Given the description of an element on the screen output the (x, y) to click on. 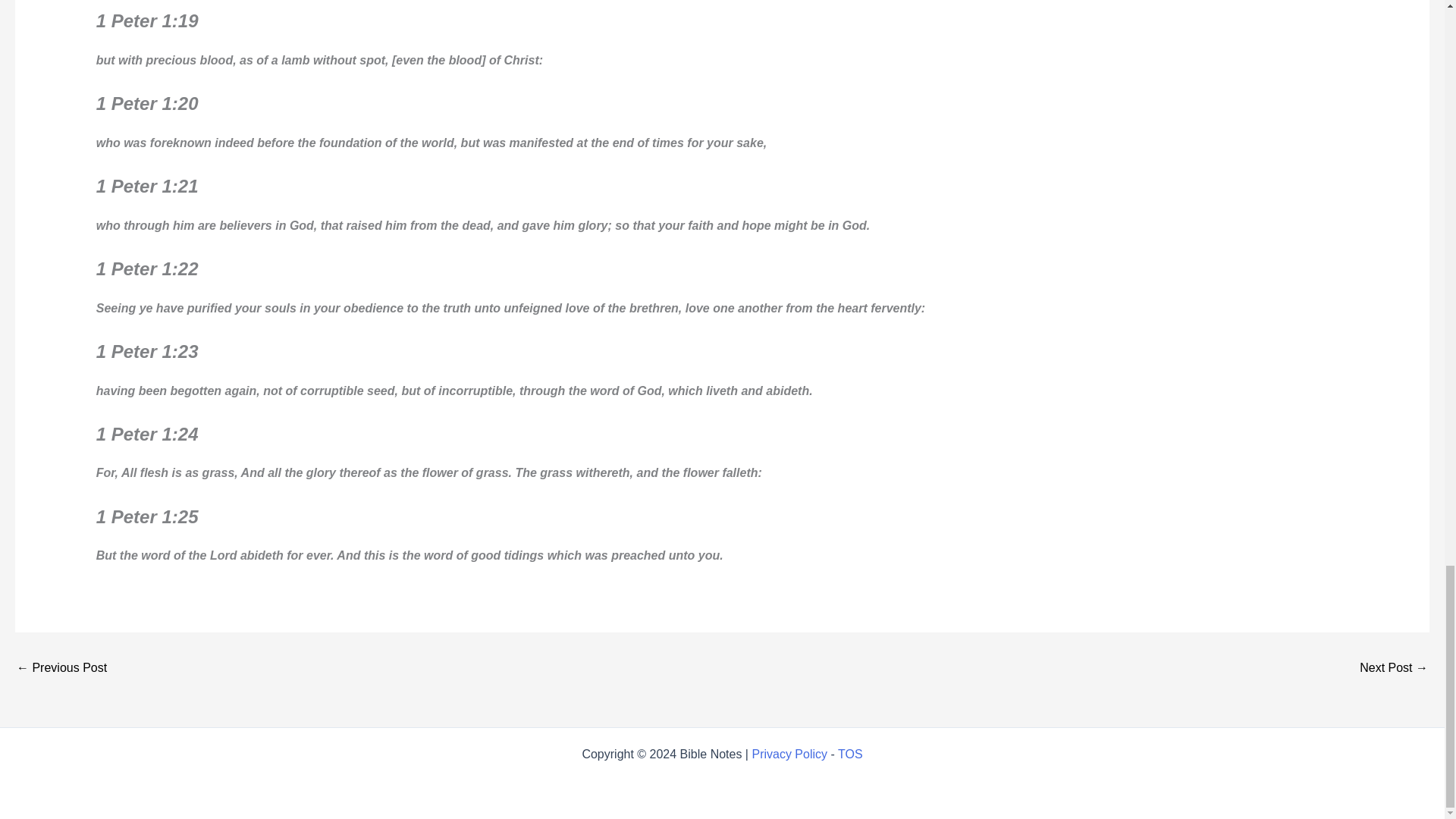
2 Peter 3 Notes, Meaning, and Commentary (1393, 667)
1 Peter 2 Notes, Meaning, and Commentary (61, 667)
